Given the description of an element on the screen output the (x, y) to click on. 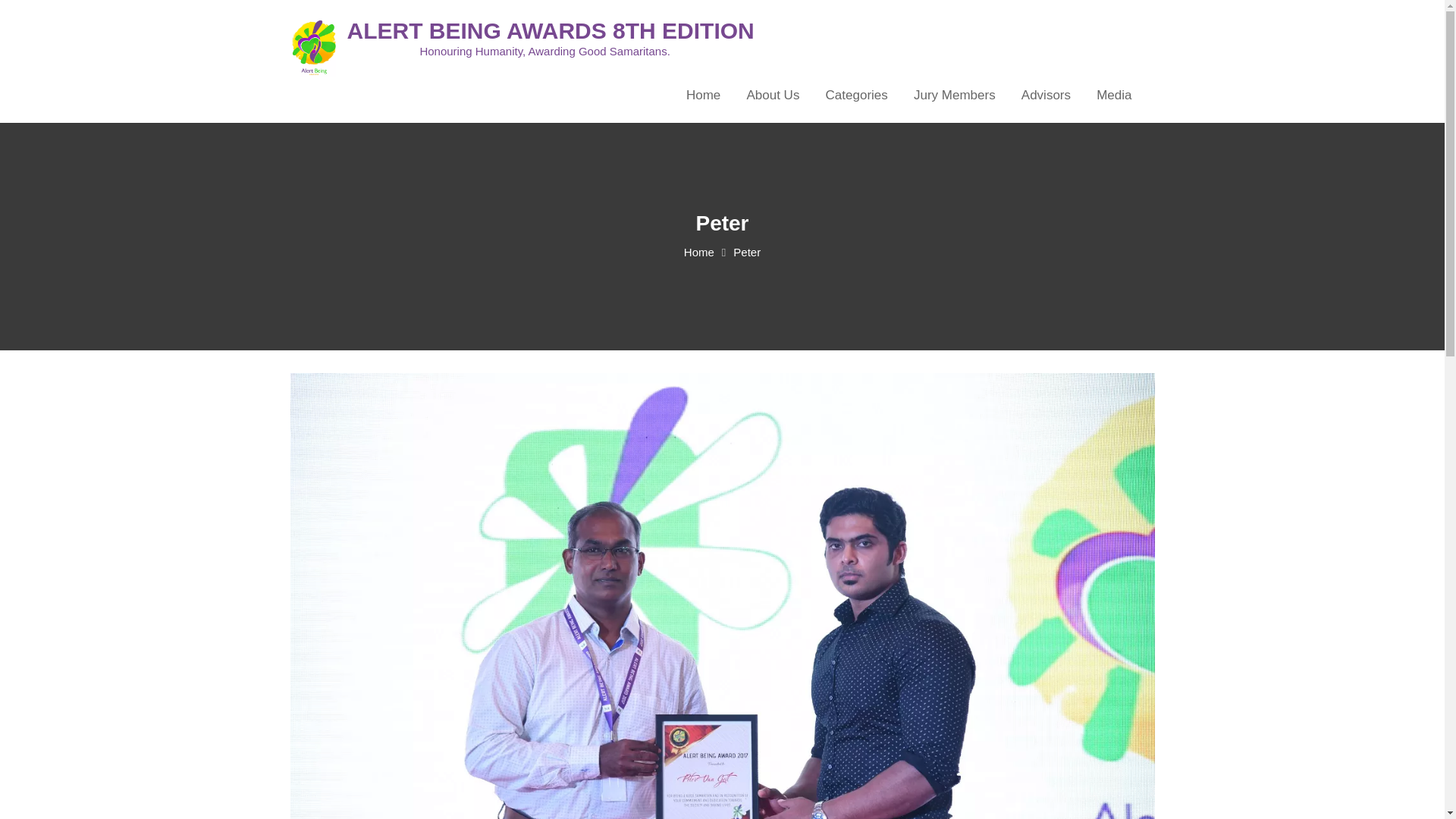
Advisors (1045, 95)
Home (699, 252)
About Us (772, 95)
Home (703, 95)
Jury Members (954, 95)
Categories (856, 95)
Media (1113, 95)
ALERT BEING AWARDS 8TH EDITION (550, 30)
ALERT Being Awards 8th Edition (550, 30)
